Given the description of an element on the screen output the (x, y) to click on. 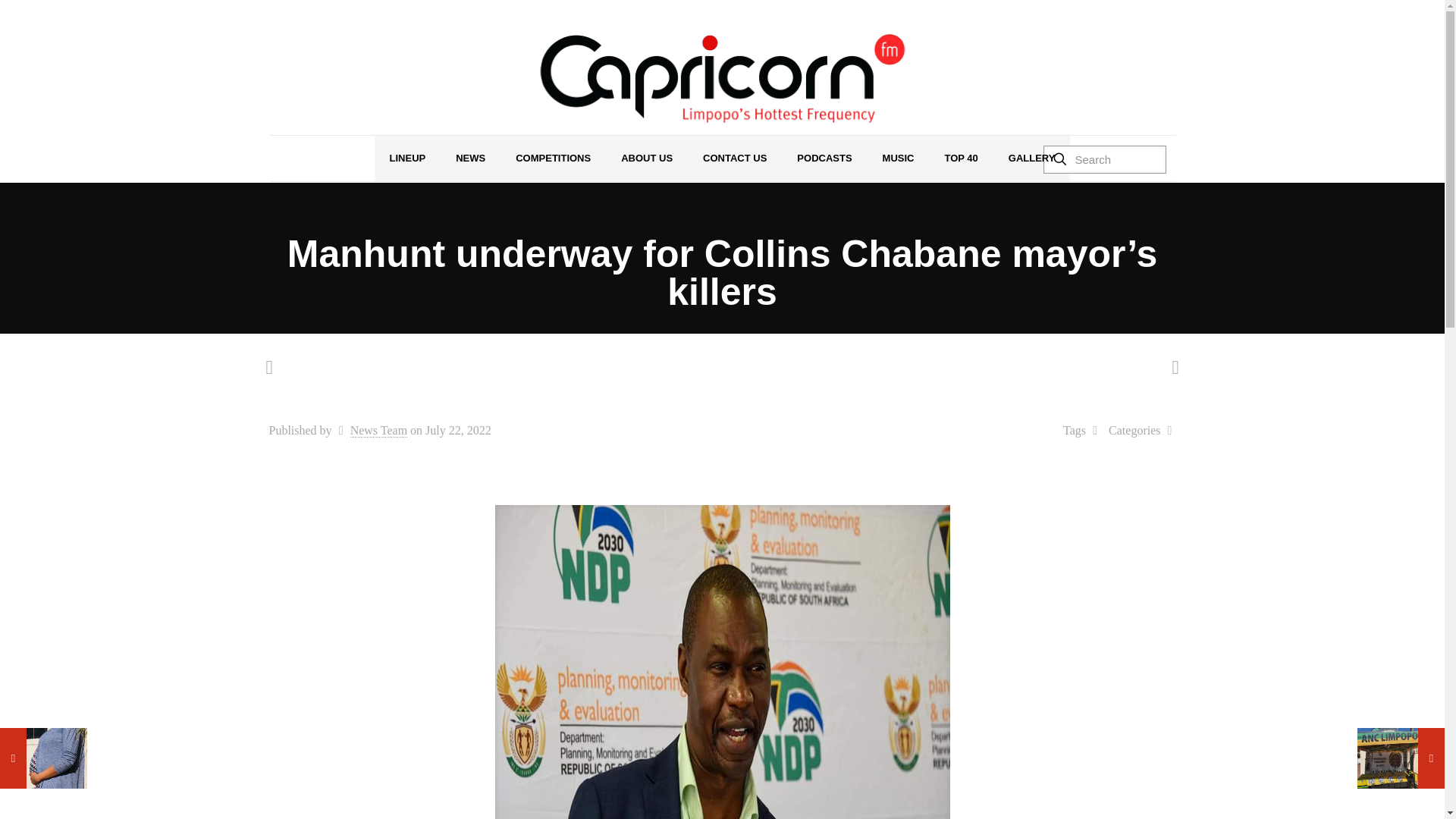
Capricorn FM (721, 78)
GALLERY (1031, 157)
CONTACT US (734, 157)
NEWS (470, 157)
LINEUP (407, 157)
TOP 40 (960, 157)
PODCASTS (823, 157)
MUSIC (898, 157)
ABOUT US (646, 157)
COMPETITIONS (552, 157)
